Given the description of an element on the screen output the (x, y) to click on. 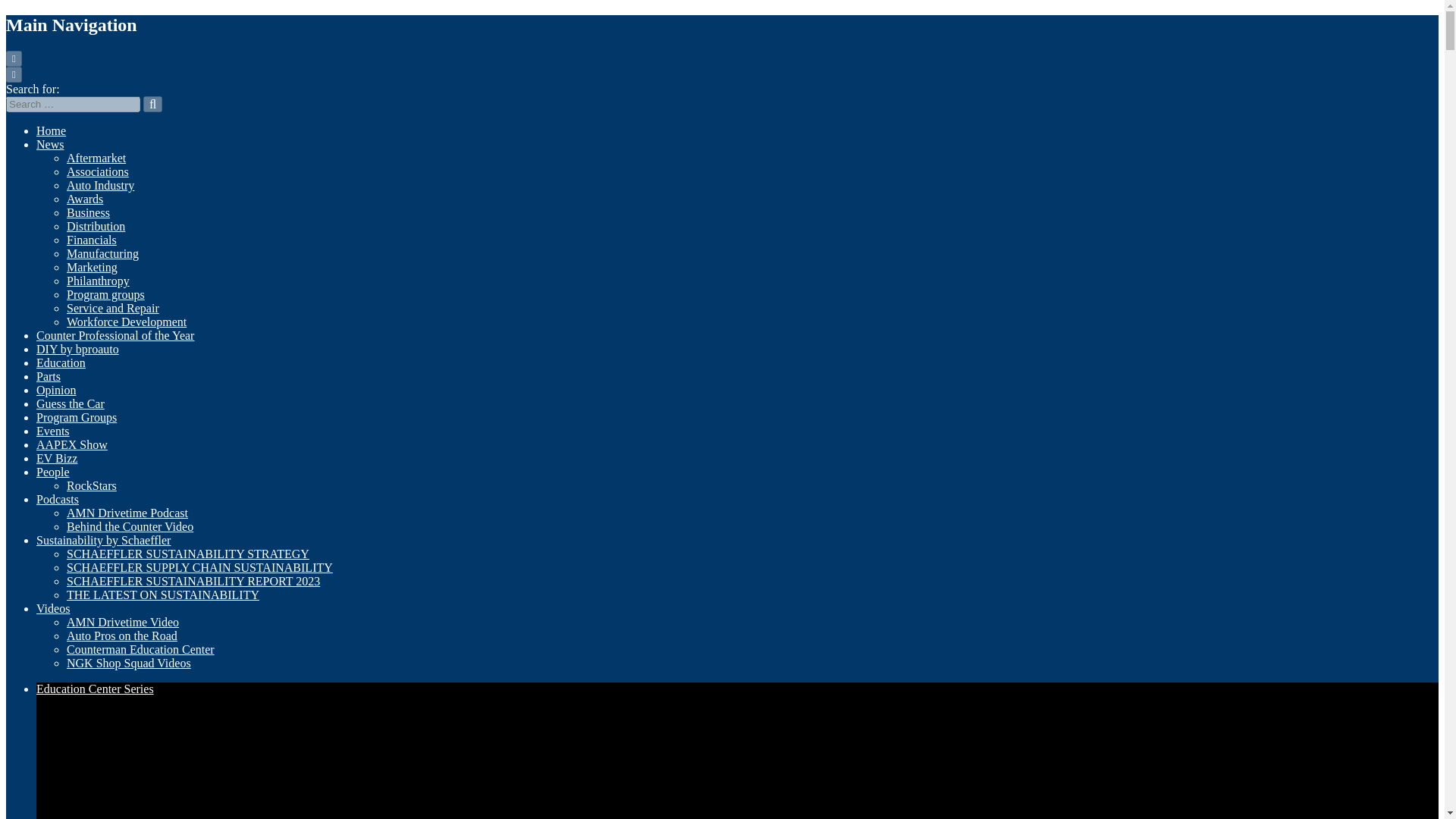
Auto Industry (99, 185)
Behind the Counter Video (129, 526)
Guess the Car (70, 403)
Marketing (91, 267)
Program groups (105, 294)
People (52, 472)
Events (52, 431)
Education (60, 362)
Associations (97, 171)
Opinion (55, 390)
AMN Drivetime Podcast (126, 512)
Home (50, 130)
Videos (52, 608)
Parts (48, 376)
Aftermarket (95, 157)
